Given the description of an element on the screen output the (x, y) to click on. 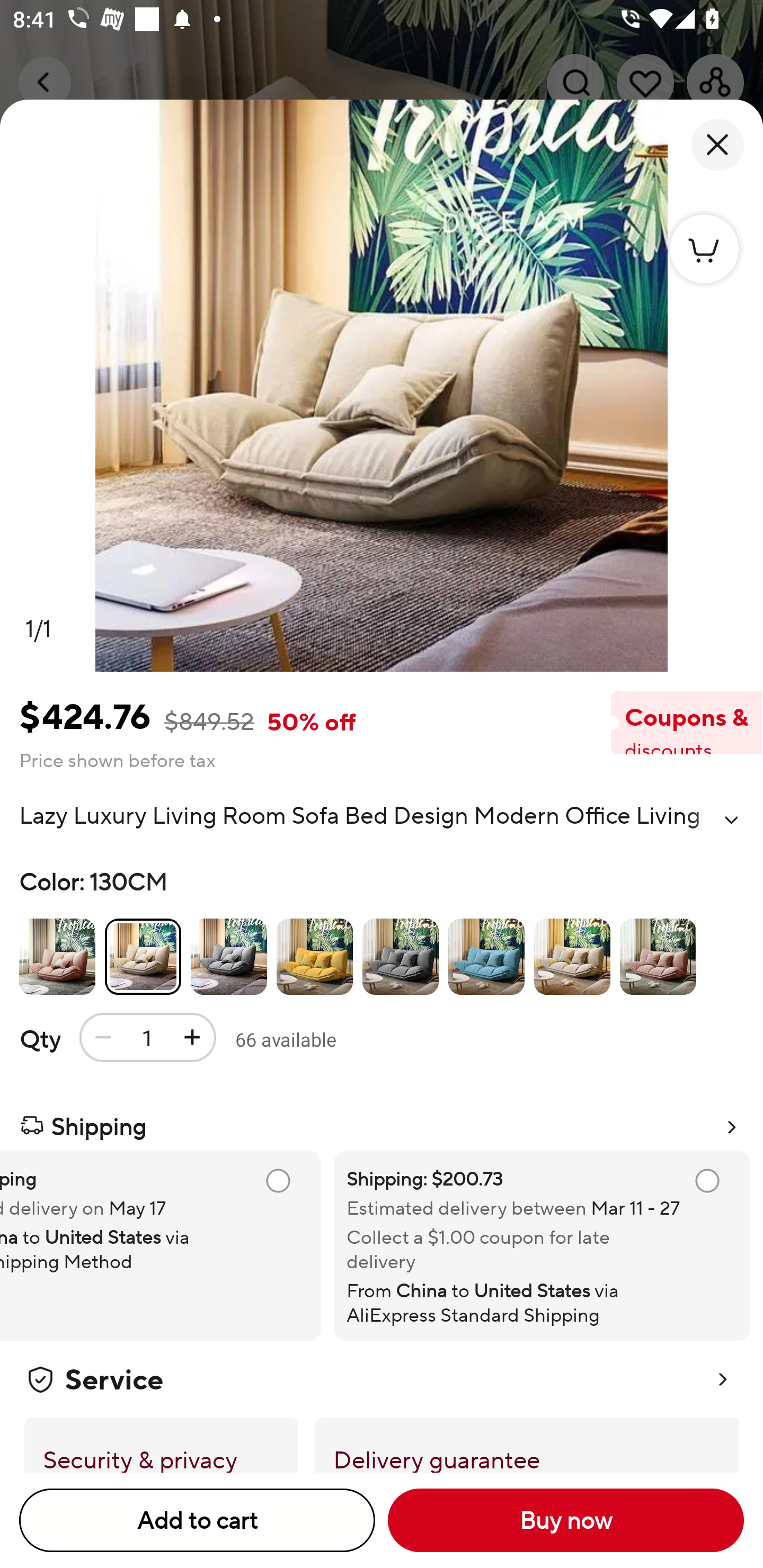
close  (717, 144)
 (730, 819)
Add to cart (197, 1520)
Buy now (565, 1520)
